Given the description of an element on the screen output the (x, y) to click on. 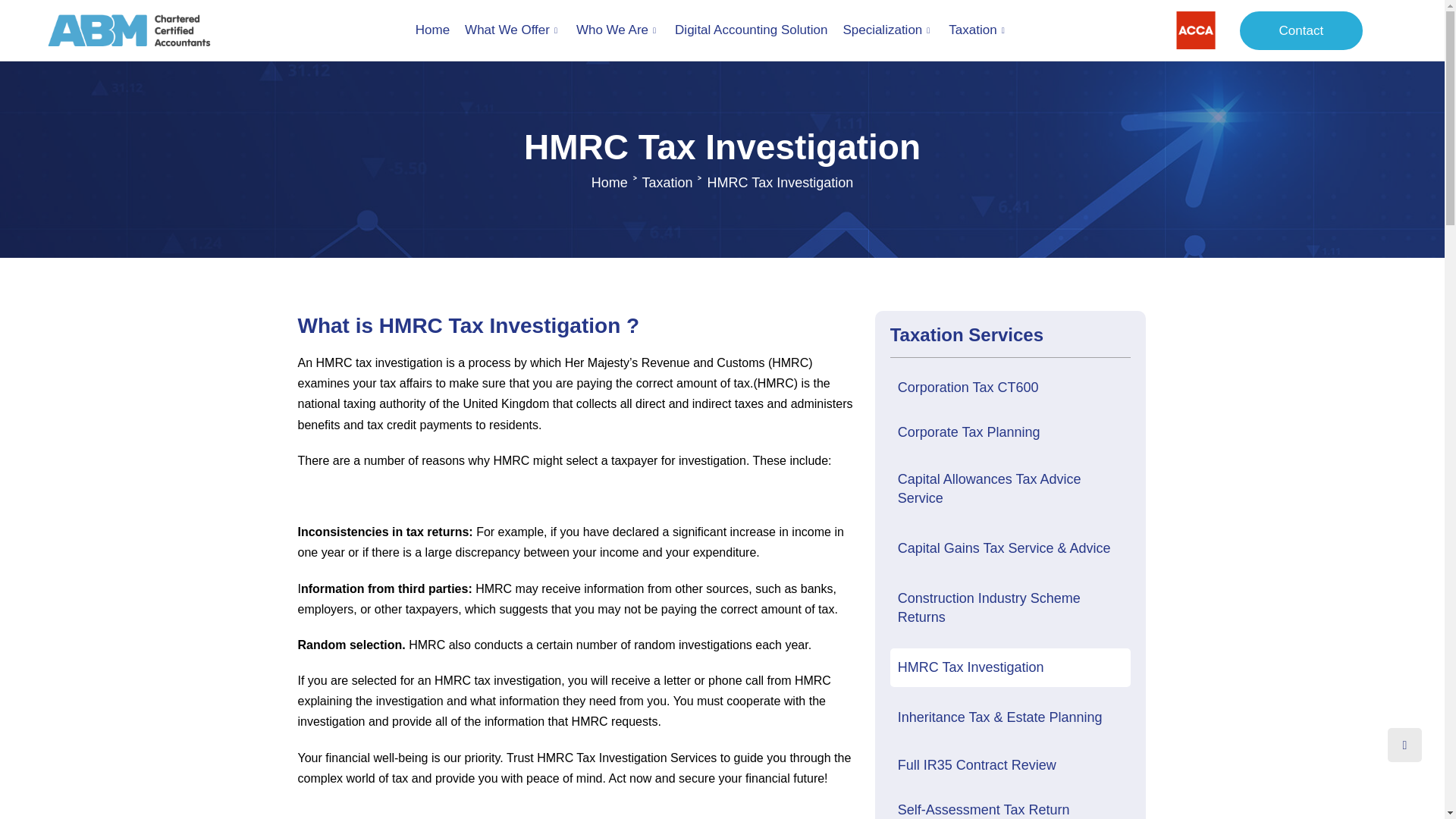
Skip to content (11, 31)
Who We Are (617, 30)
Specialization (887, 30)
Digital Accounting Solution (750, 30)
Taxation (977, 30)
What We Offer (513, 30)
